Given the description of an element on the screen output the (x, y) to click on. 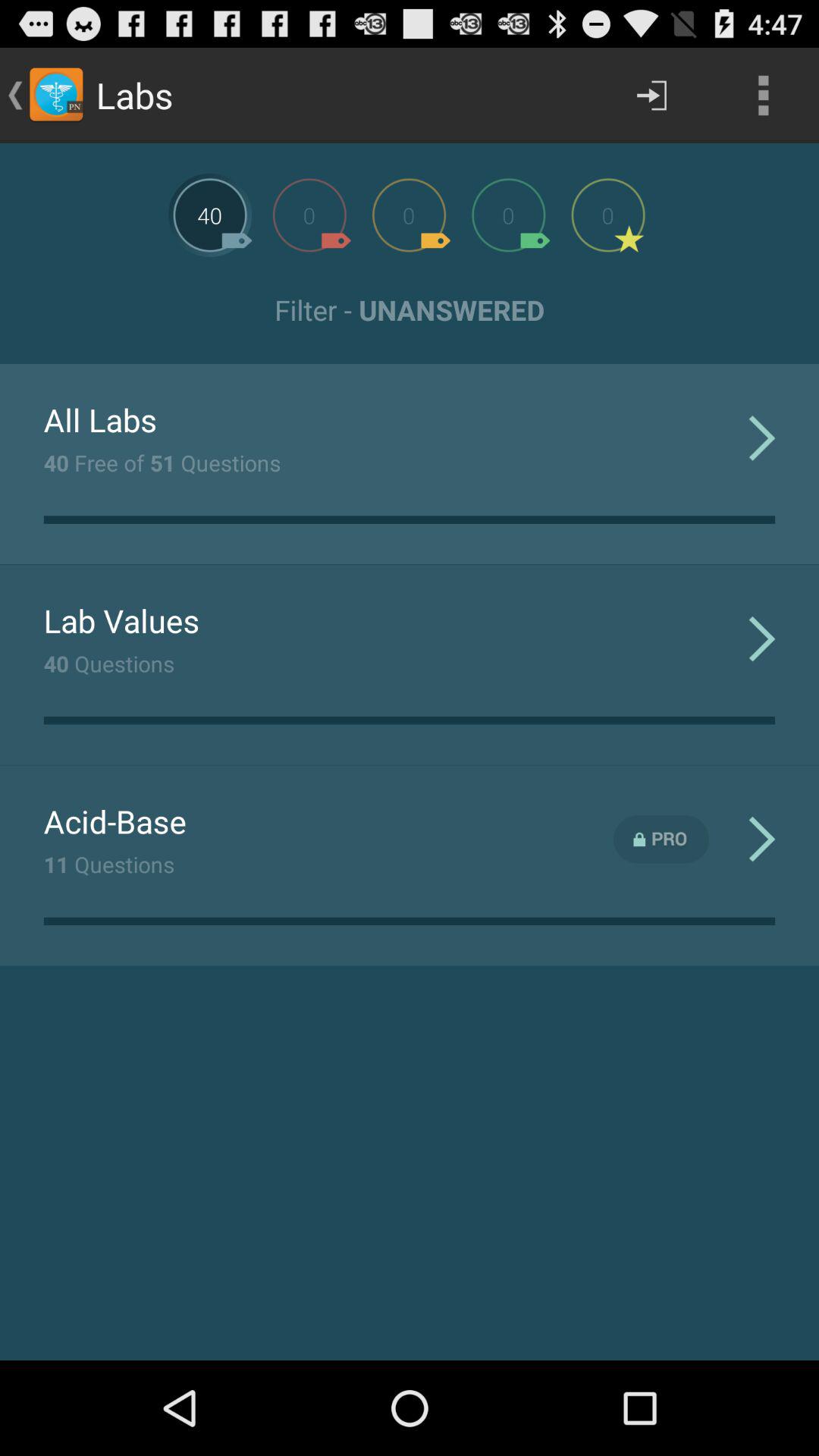
filter answered correctly (508, 215)
